Given the description of an element on the screen output the (x, y) to click on. 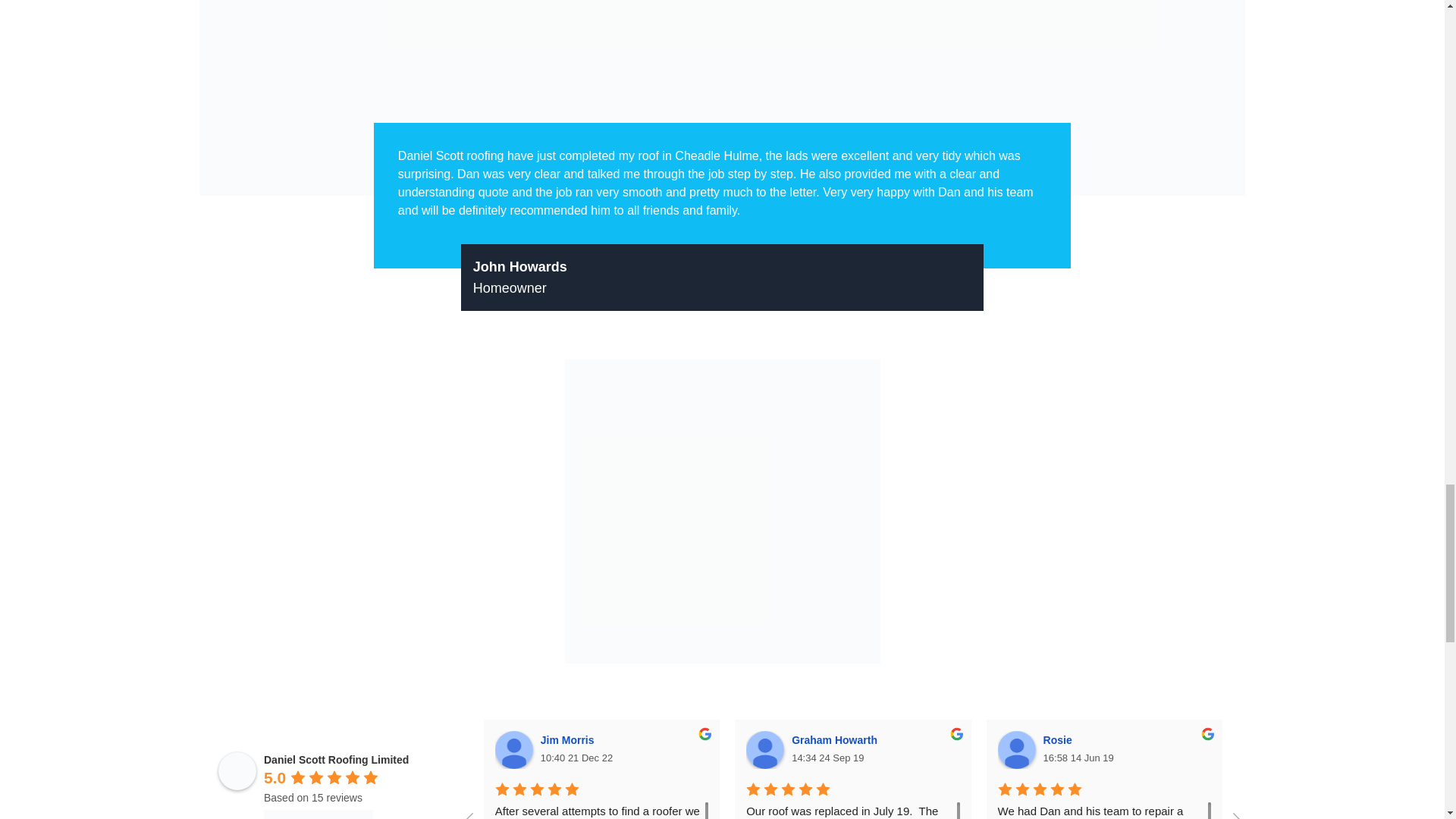
Jim Morris (569, 739)
Rosie (1016, 750)
Martyn Beauchamp (1345, 739)
Martyn Beauchamp (1268, 750)
Graham Howarth (837, 739)
Daniel Scott Roofing Limited (237, 771)
powered by Google (317, 814)
Graham Howarth (764, 750)
Rosie (1060, 739)
Daniel Scott Roofing Limited (336, 759)
